Given the description of an element on the screen output the (x, y) to click on. 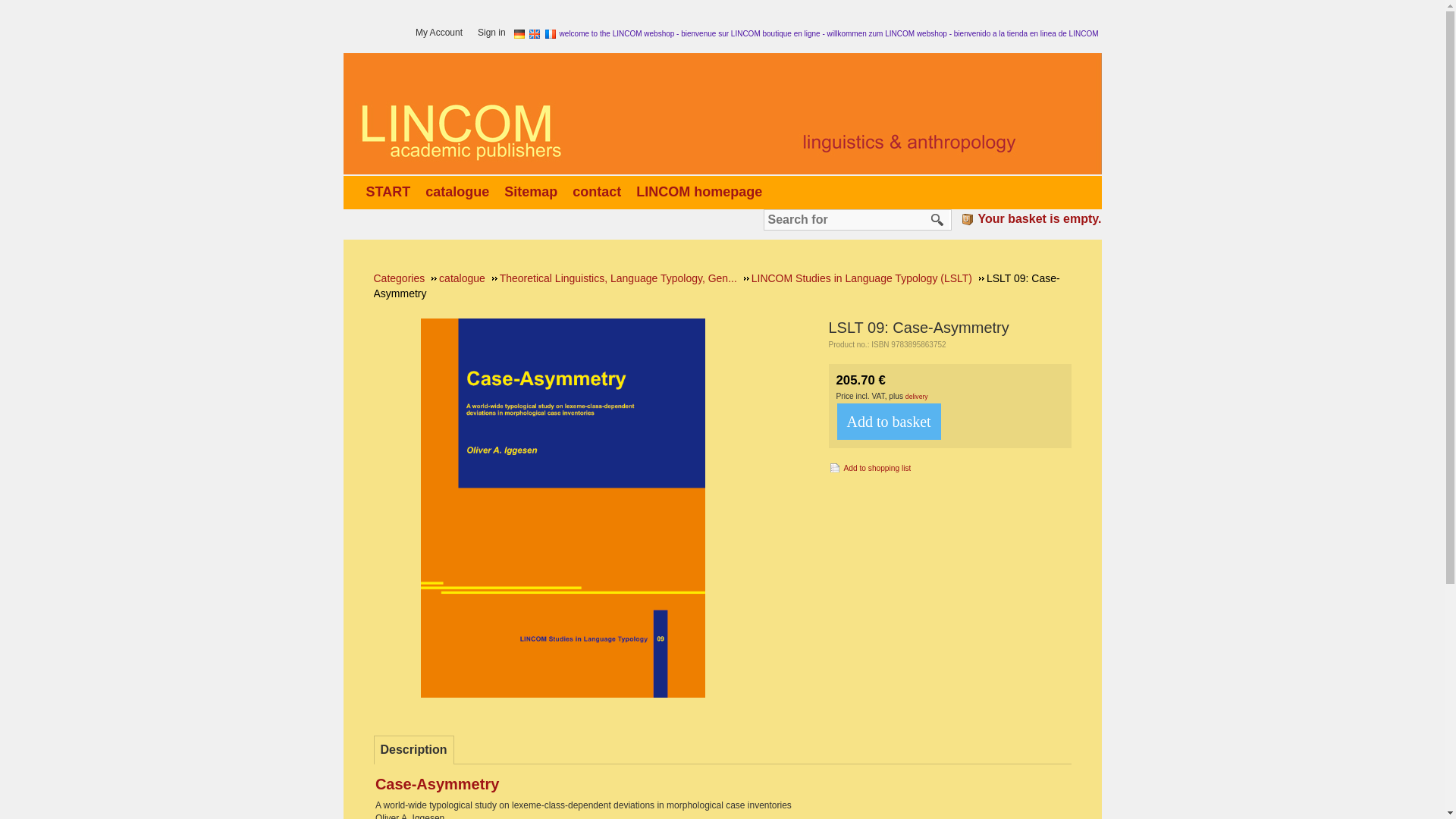
Sign in (495, 32)
Start search (937, 219)
Add to shopping list (869, 466)
catalogue (460, 190)
My Account (442, 32)
START (391, 190)
